Given the description of an element on the screen output the (x, y) to click on. 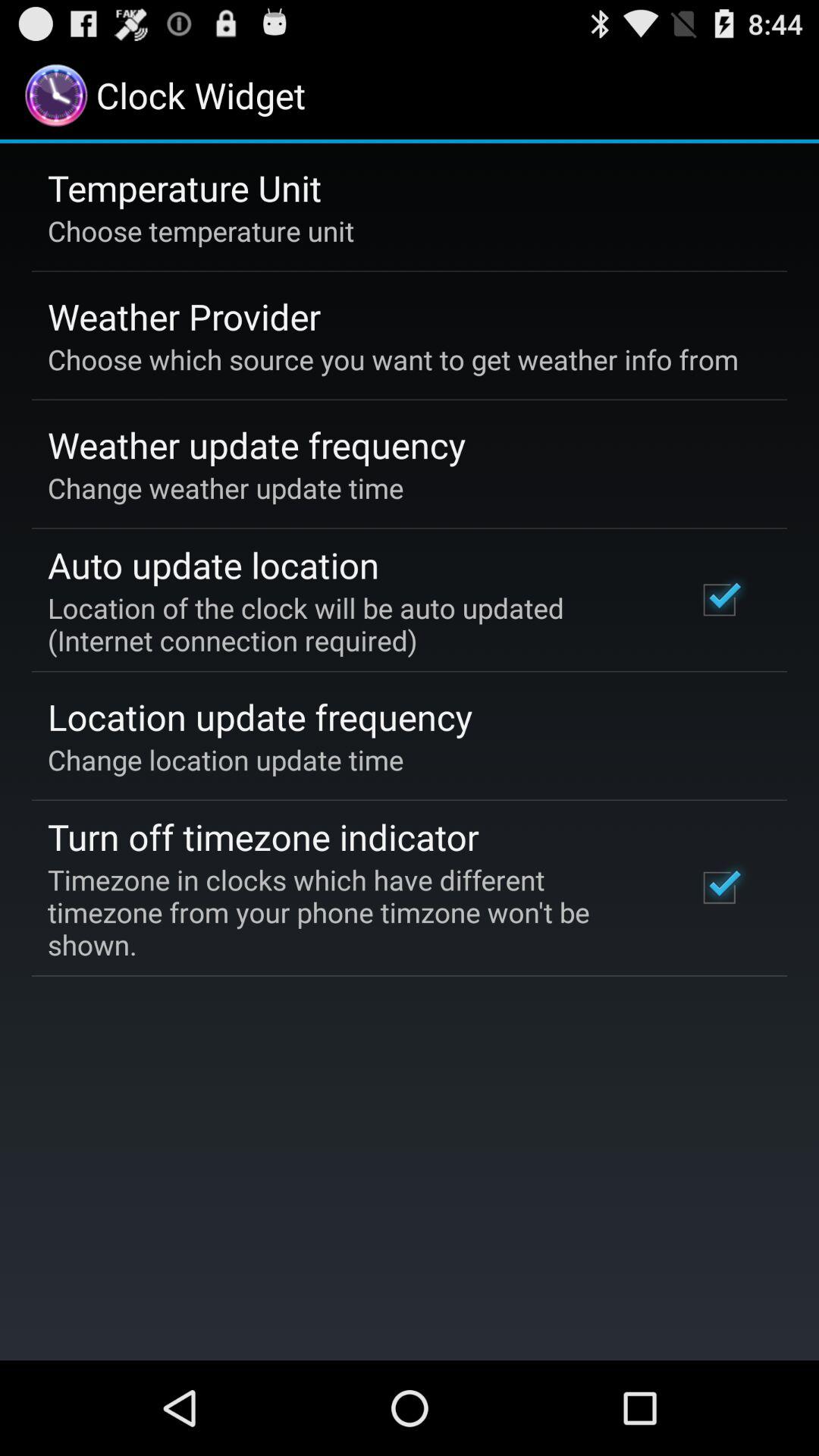
choose the timezone in clocks app (351, 912)
